Given the description of an element on the screen output the (x, y) to click on. 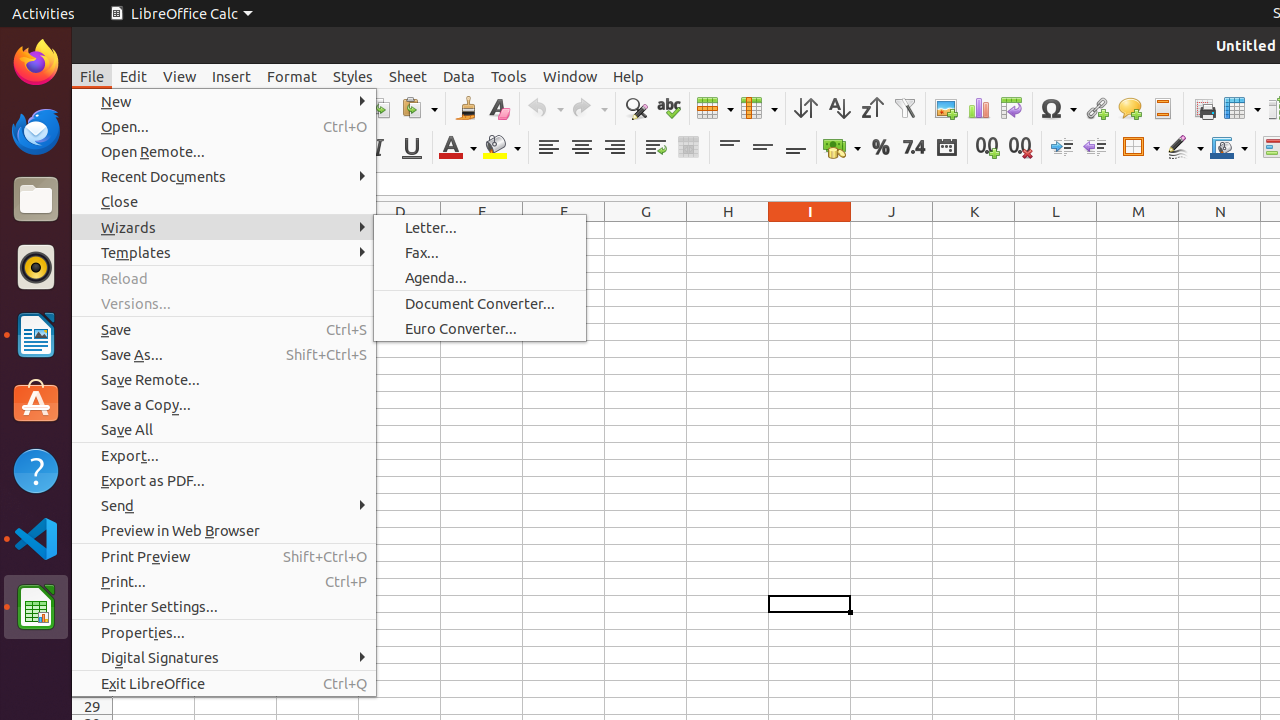
I1 Element type: table-cell (810, 230)
Align Center Element type: push-button (581, 147)
Wrap Text Element type: push-button (655, 147)
AutoFilter Element type: push-button (904, 108)
Fax... Element type: menu-item (480, 252)
